Given the description of an element on the screen output the (x, y) to click on. 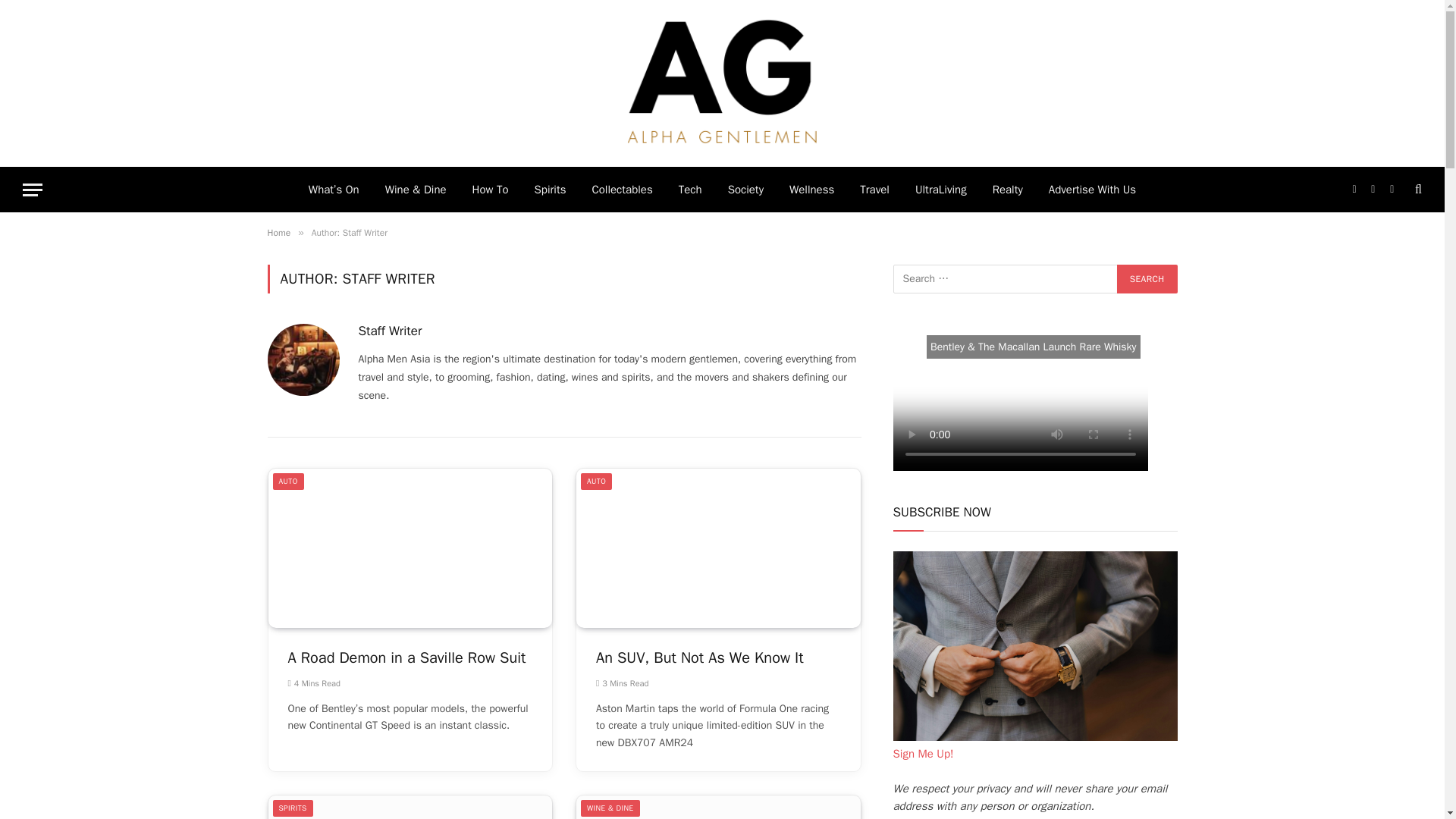
Ode to the Seven Seas (718, 807)
Search (1146, 278)
A Road Demon in a Saville Row Suit (410, 548)
Advertise With Us (1091, 189)
Society (745, 189)
Realty (1007, 189)
Collectables (621, 189)
Wellness (811, 189)
Posts by Staff Writer (390, 331)
UltraLiving (940, 189)
